Given the description of an element on the screen output the (x, y) to click on. 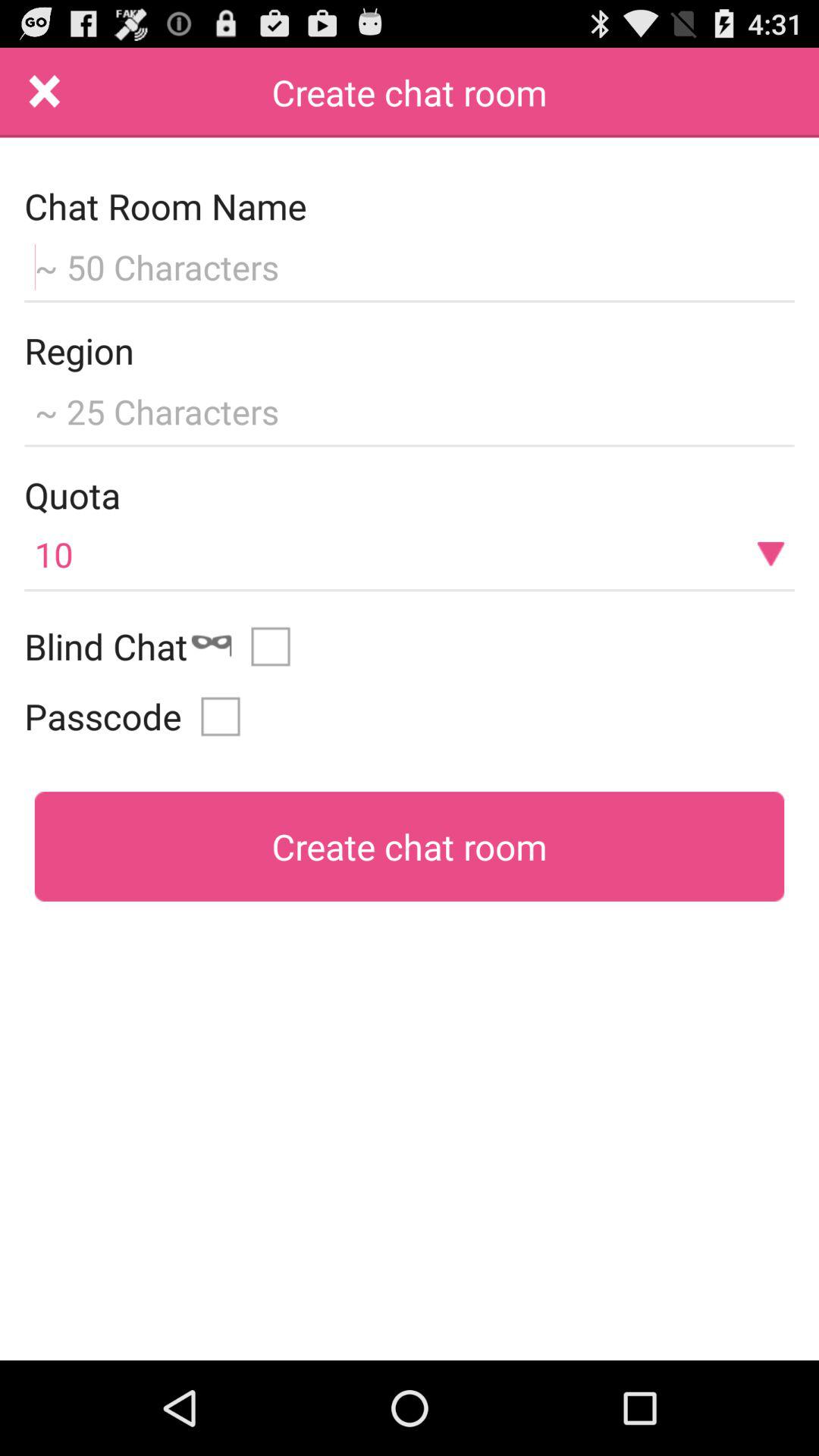
swipe until 10 (409, 554)
